Given the description of an element on the screen output the (x, y) to click on. 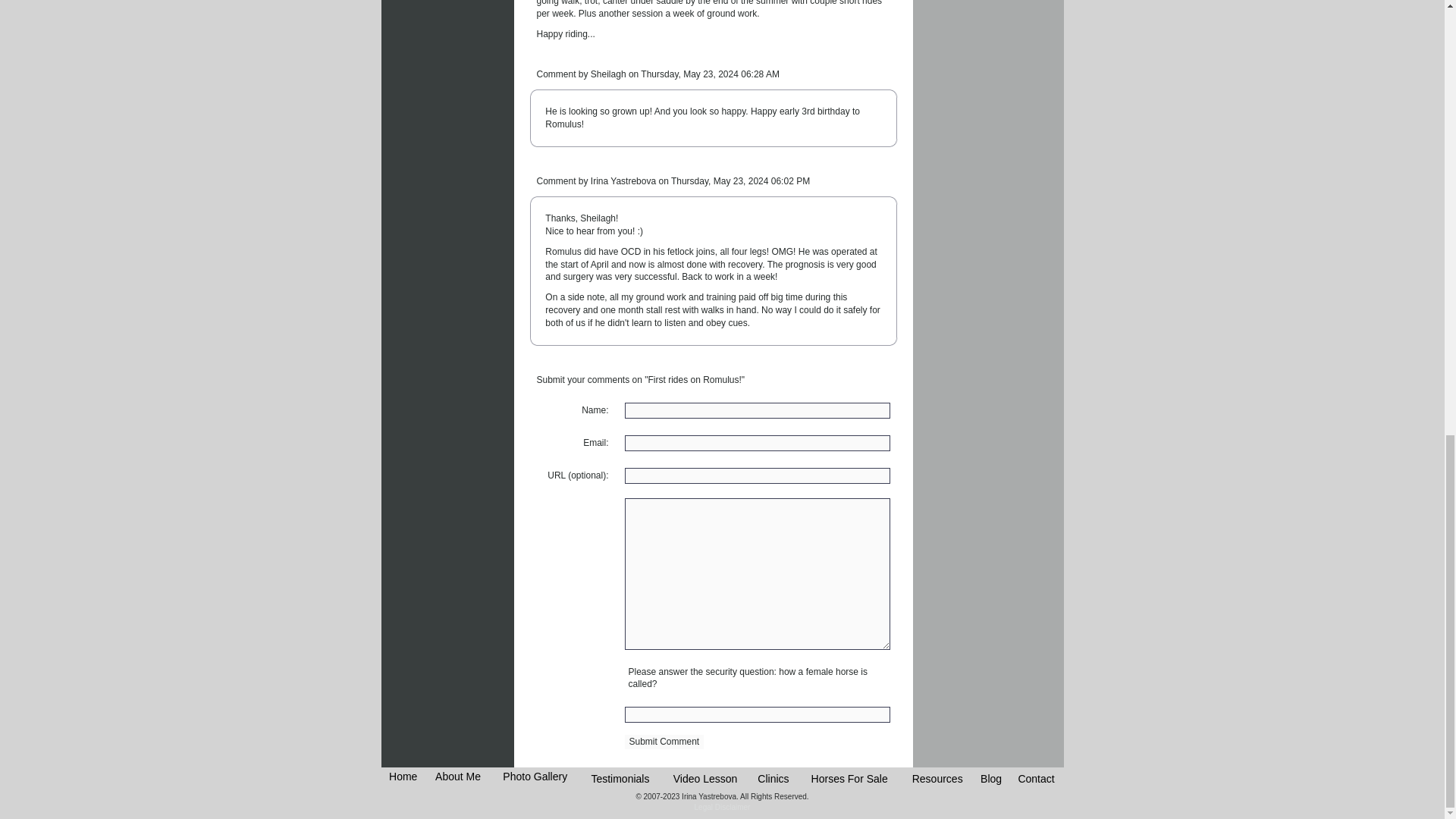
Testimonials (620, 778)
Video Lesson (705, 778)
Resources (937, 778)
Home (402, 776)
Contact (1035, 778)
Blog (990, 778)
Legal Disclaimer (722, 807)
Submit Comment (664, 741)
Horses For Sale (849, 778)
Photo Gallery (534, 776)
Clinics (773, 778)
About Me (457, 776)
Submit Comment (664, 741)
